Given the description of an element on the screen output the (x, y) to click on. 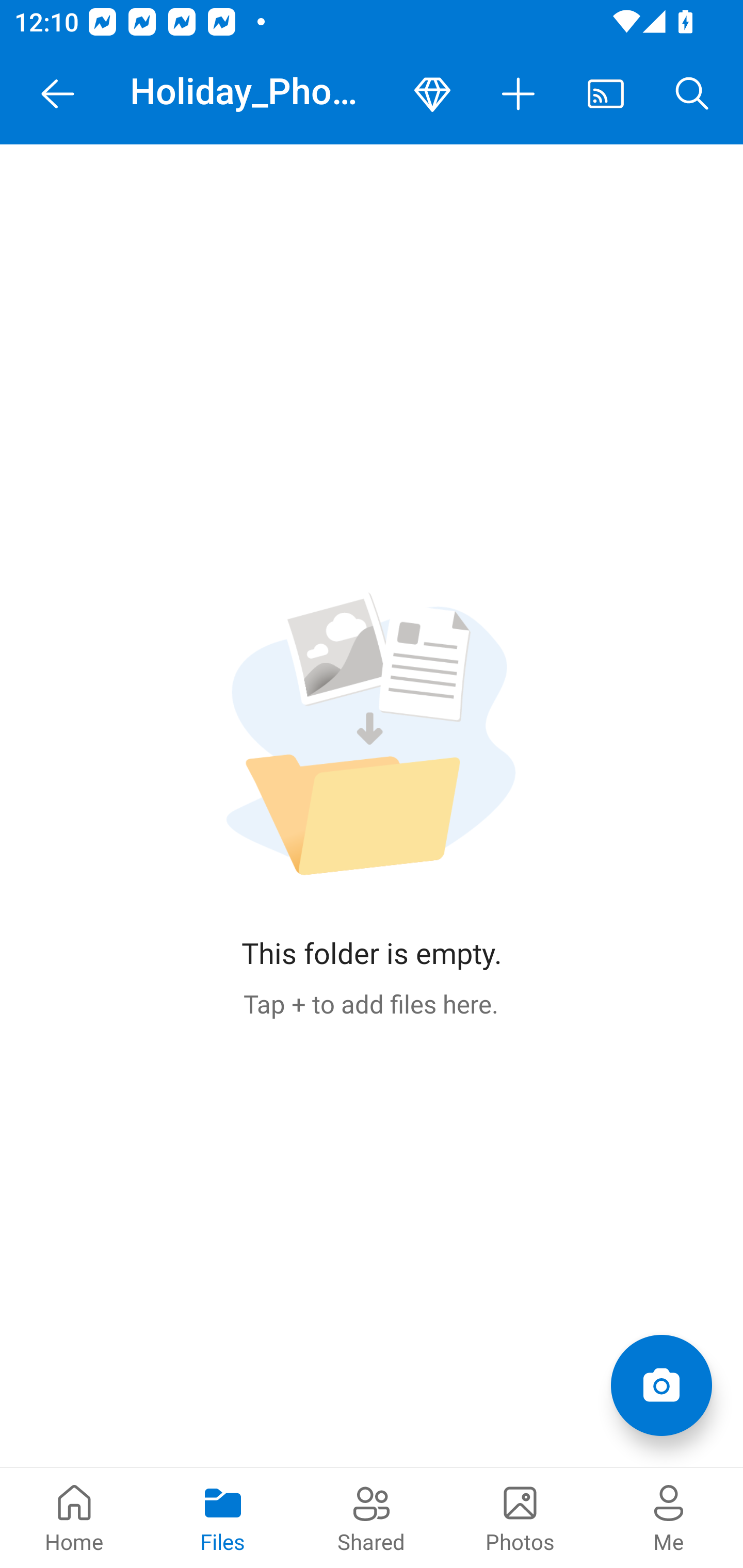
Navigate Up (57, 93)
Cast. Disconnected (605, 93)
Premium button (432, 93)
More actions button (518, 93)
Search button (692, 93)
Add items Scan (660, 1385)
Home pivot Home (74, 1517)
Shared pivot Shared (371, 1517)
Photos pivot Photos (519, 1517)
Me pivot Me (668, 1517)
